Given the description of an element on the screen output the (x, y) to click on. 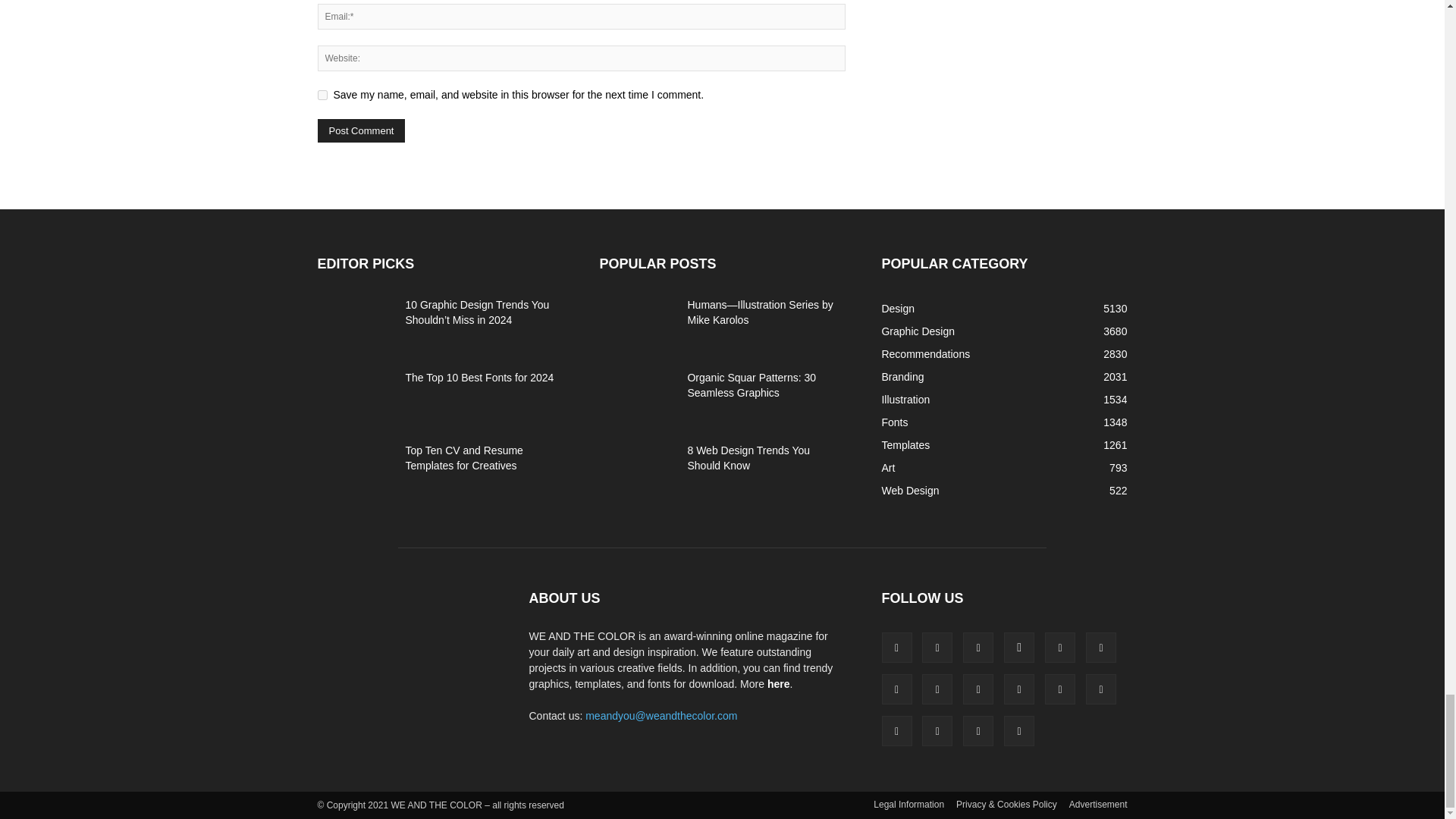
Post Comment (360, 130)
yes (321, 94)
